Given the description of an element on the screen output the (x, y) to click on. 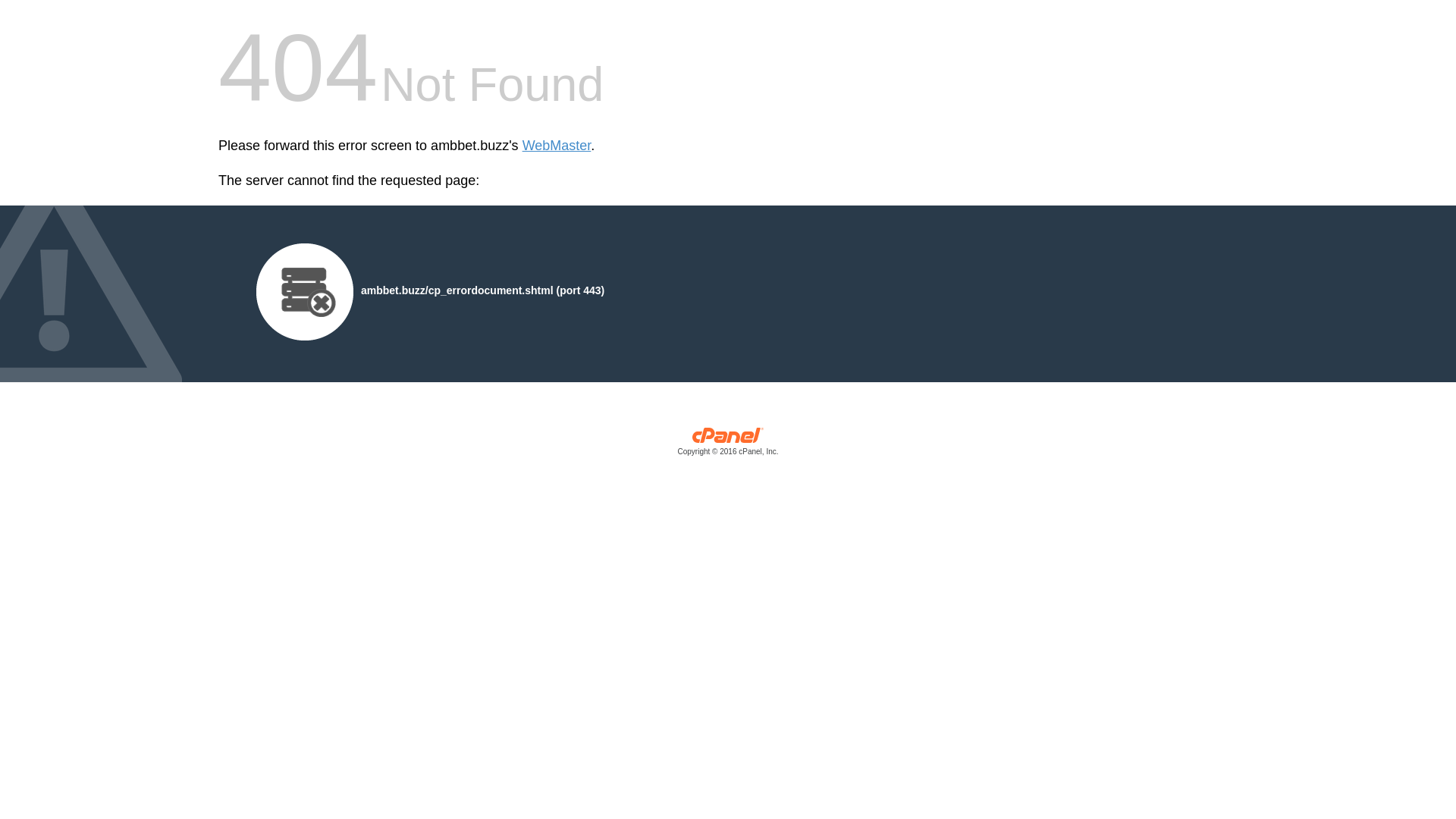
WebMaster Element type: text (556, 145)
